Given the description of an element on the screen output the (x, y) to click on. 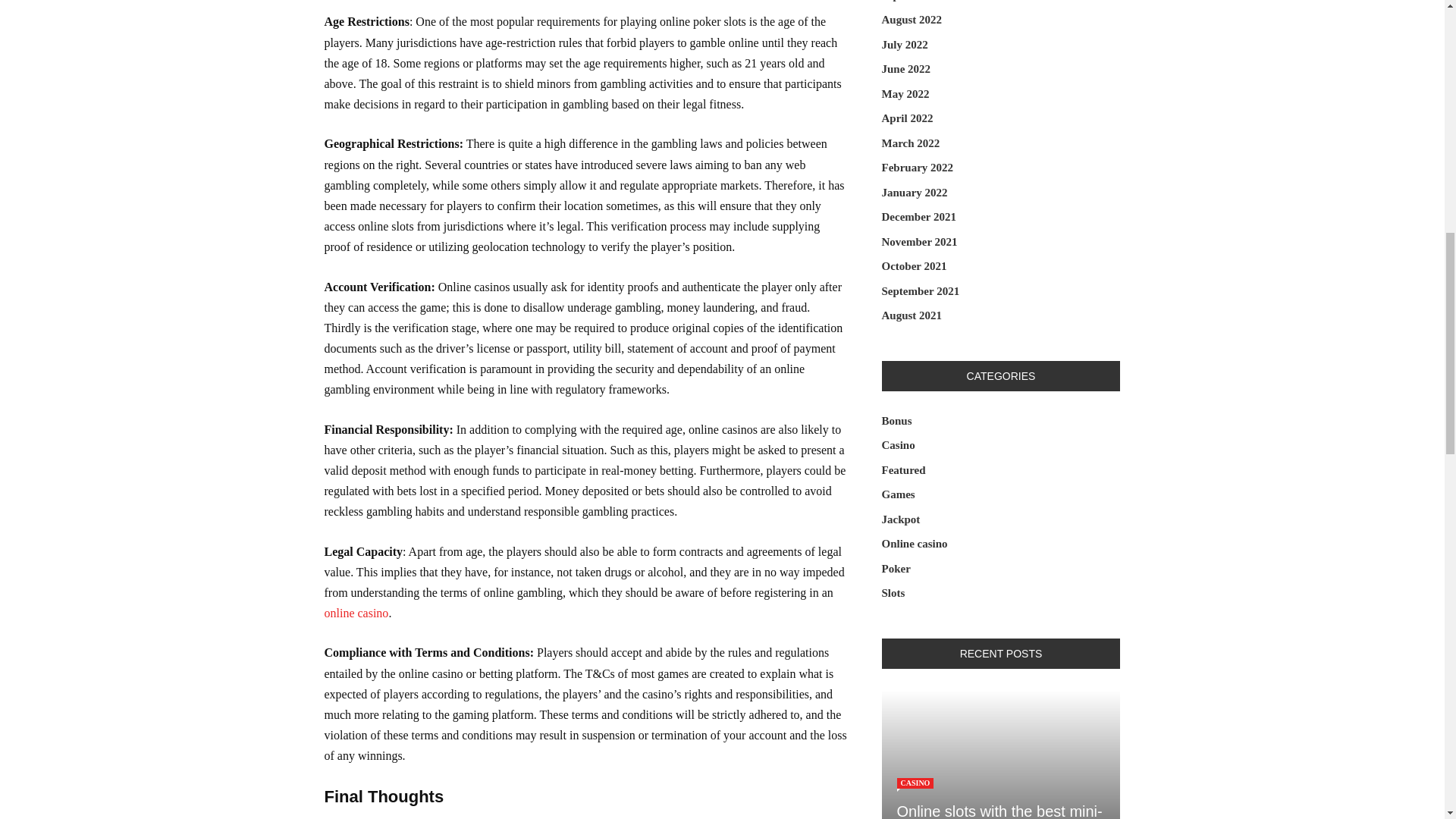
online casino (356, 612)
